Given the description of an element on the screen output the (x, y) to click on. 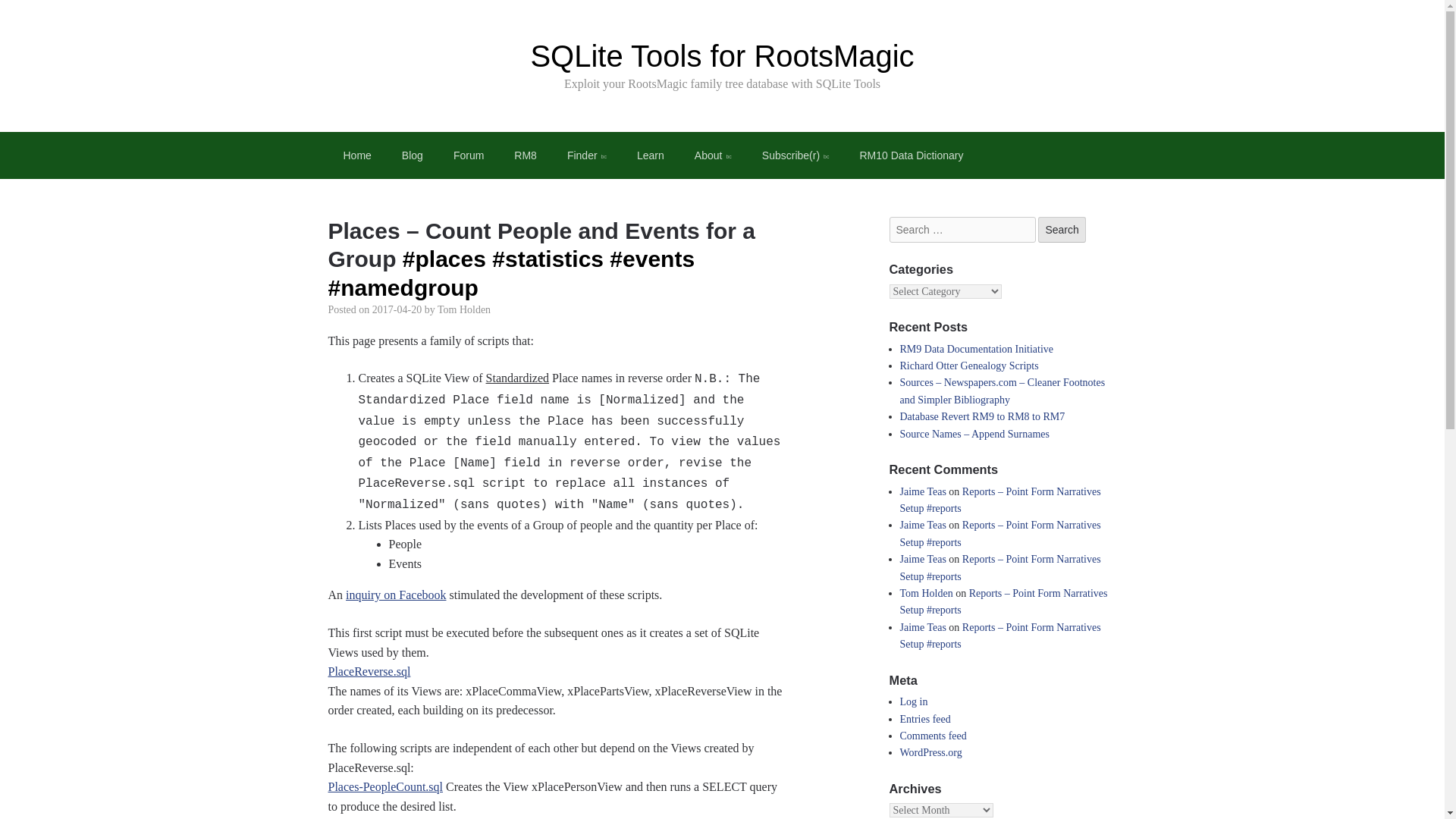
RM8 (525, 155)
RM10 Data Dictionary (911, 155)
About (712, 155)
SQLite Tools for RootsMagic (721, 55)
PlaceReverse.sql (368, 671)
inquiry on Facebook (395, 594)
Home (356, 155)
Search (1061, 229)
Search (1061, 229)
Places-PeopleCount.sql (384, 786)
2017-04-20 (397, 309)
Blog (412, 155)
Forum (468, 155)
Learn (650, 155)
Finder (586, 155)
